Given the description of an element on the screen output the (x, y) to click on. 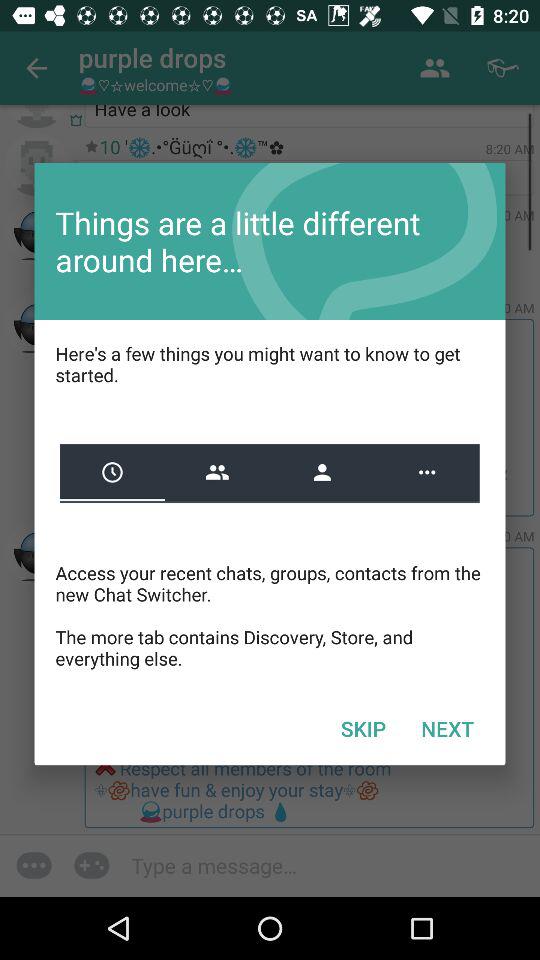
open item to the left of the next item (363, 728)
